Given the description of an element on the screen output the (x, y) to click on. 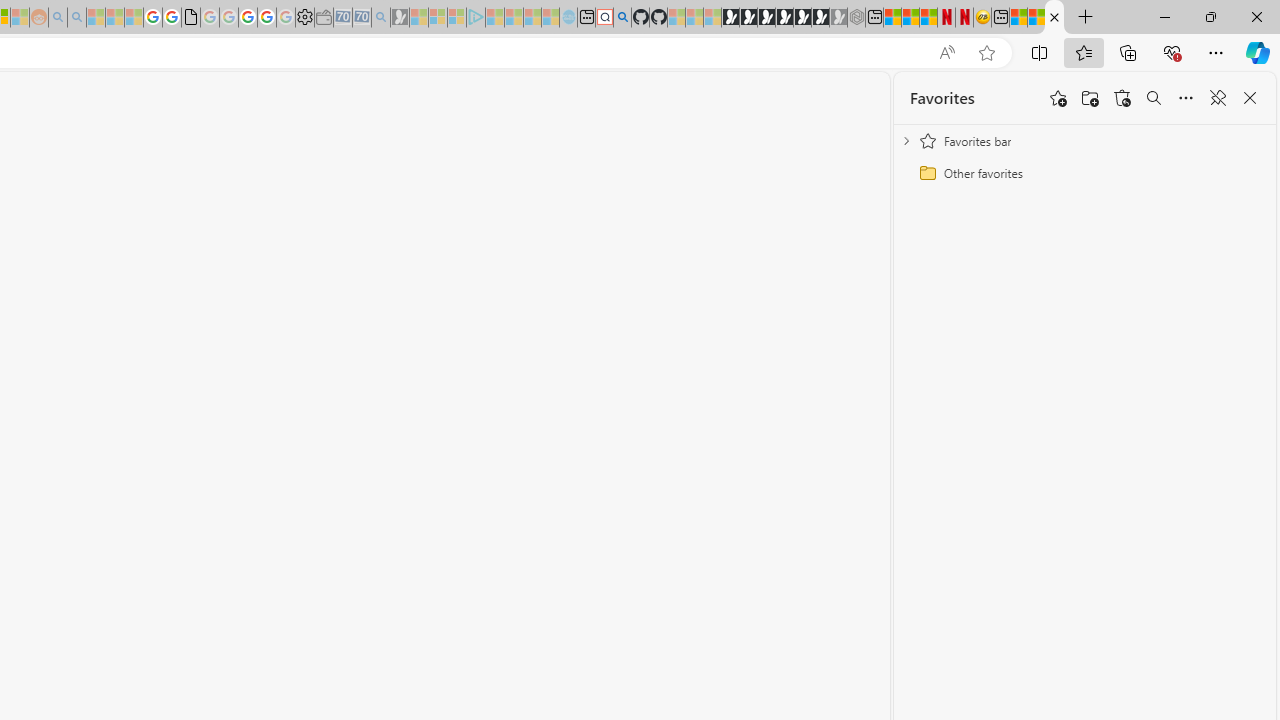
github - Search (622, 17)
Wallet - Sleeping (323, 17)
Home | Sky Blue Bikes - Sky Blue Bikes - Sleeping (568, 17)
Microsoft account | Privacy - Sleeping (456, 17)
Close favorites (1250, 98)
